Given the description of an element on the screen output the (x, y) to click on. 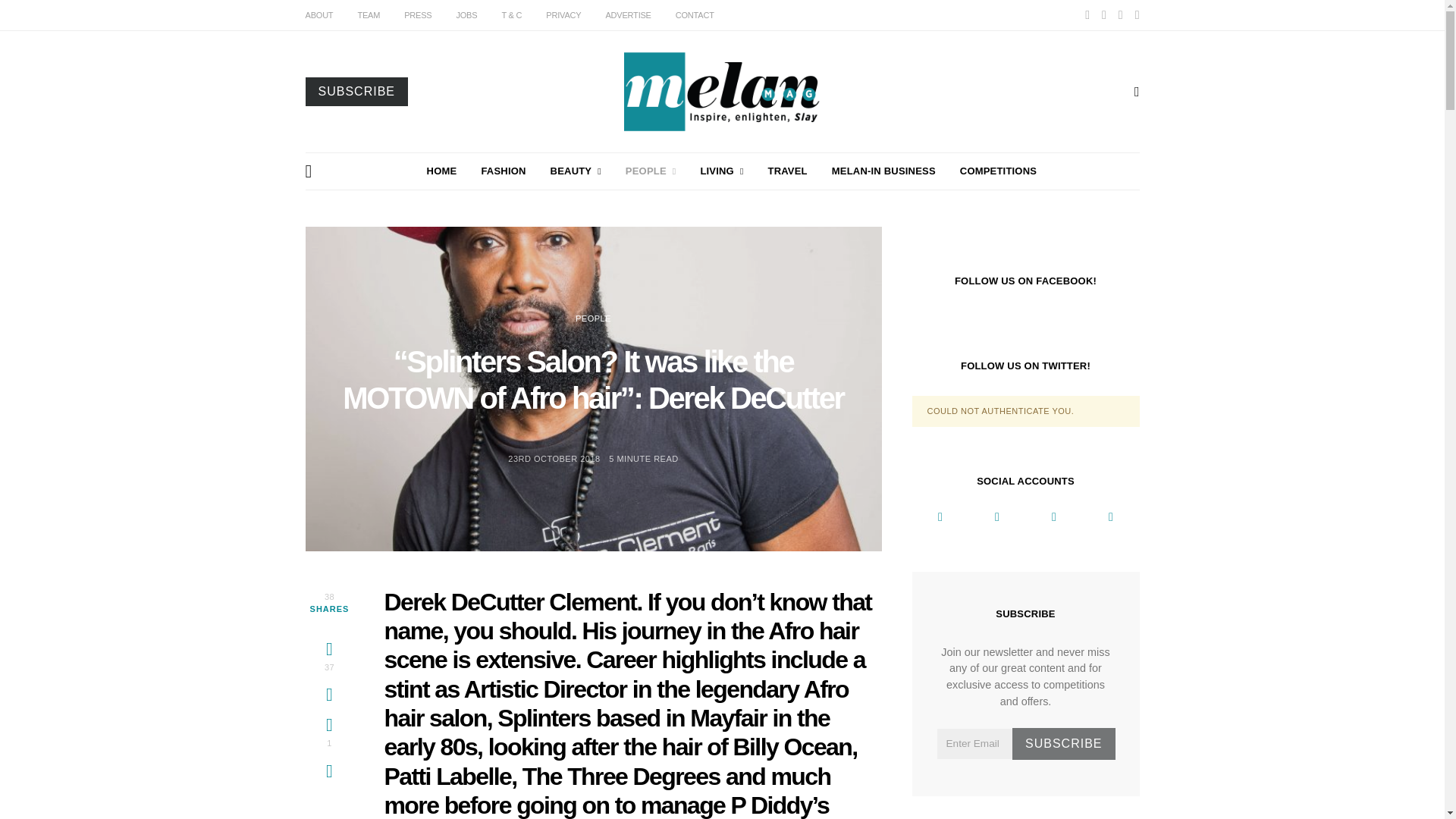
CONTACT (694, 15)
TEAM (368, 15)
JOBS (466, 15)
PRESS (417, 15)
SUBSCRIBE (355, 91)
ABOUT (318, 15)
ADVERTISE (627, 15)
PRIVACY (563, 15)
